Given the description of an element on the screen output the (x, y) to click on. 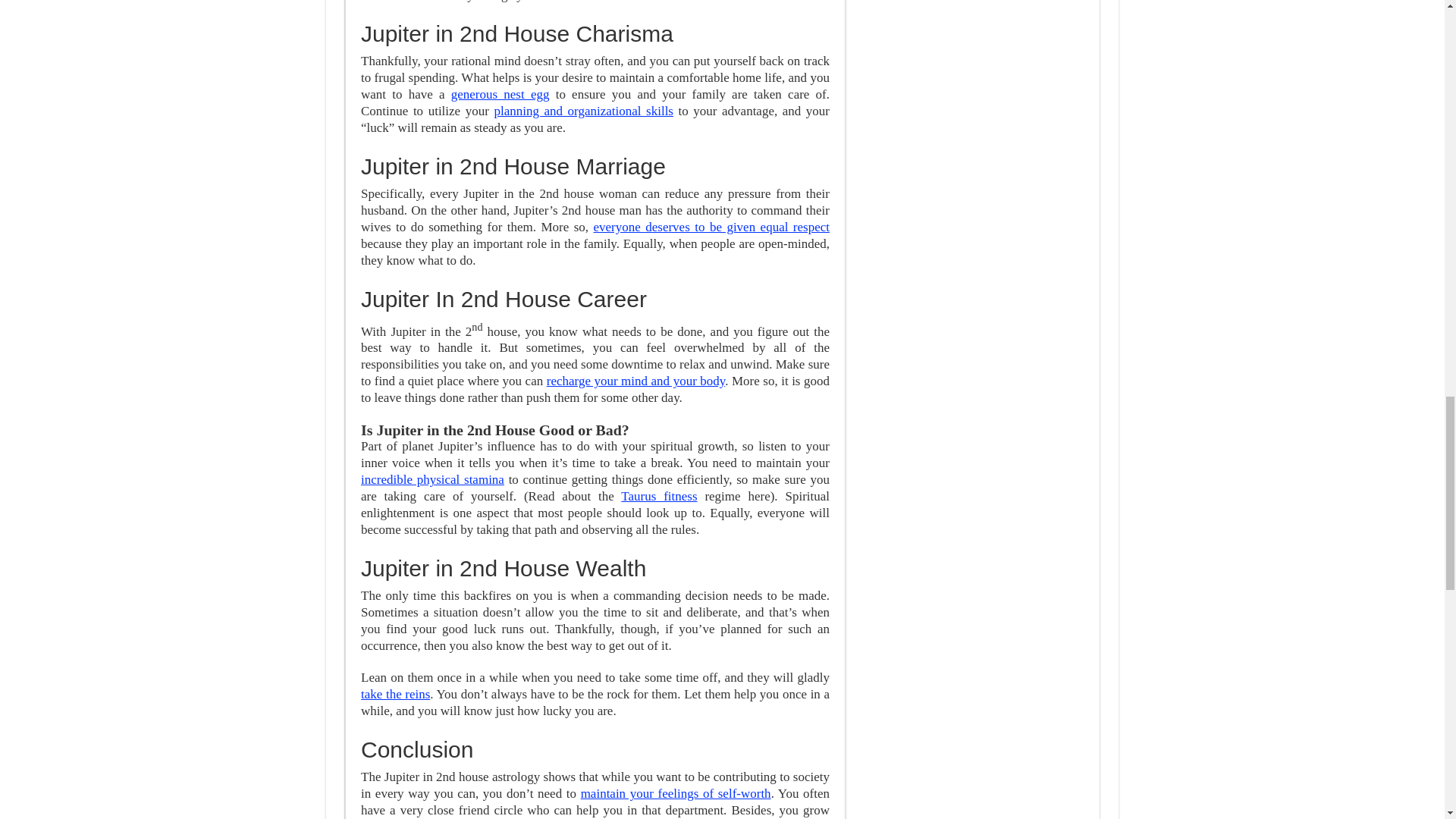
planning and organizational skills (582, 110)
recharge your mind and your body (636, 380)
generous nest egg (500, 93)
Fitness Workout For Taurus (659, 495)
incredible physical stamina (432, 479)
everyone deserves to be given equal respect (711, 227)
